Given the description of an element on the screen output the (x, y) to click on. 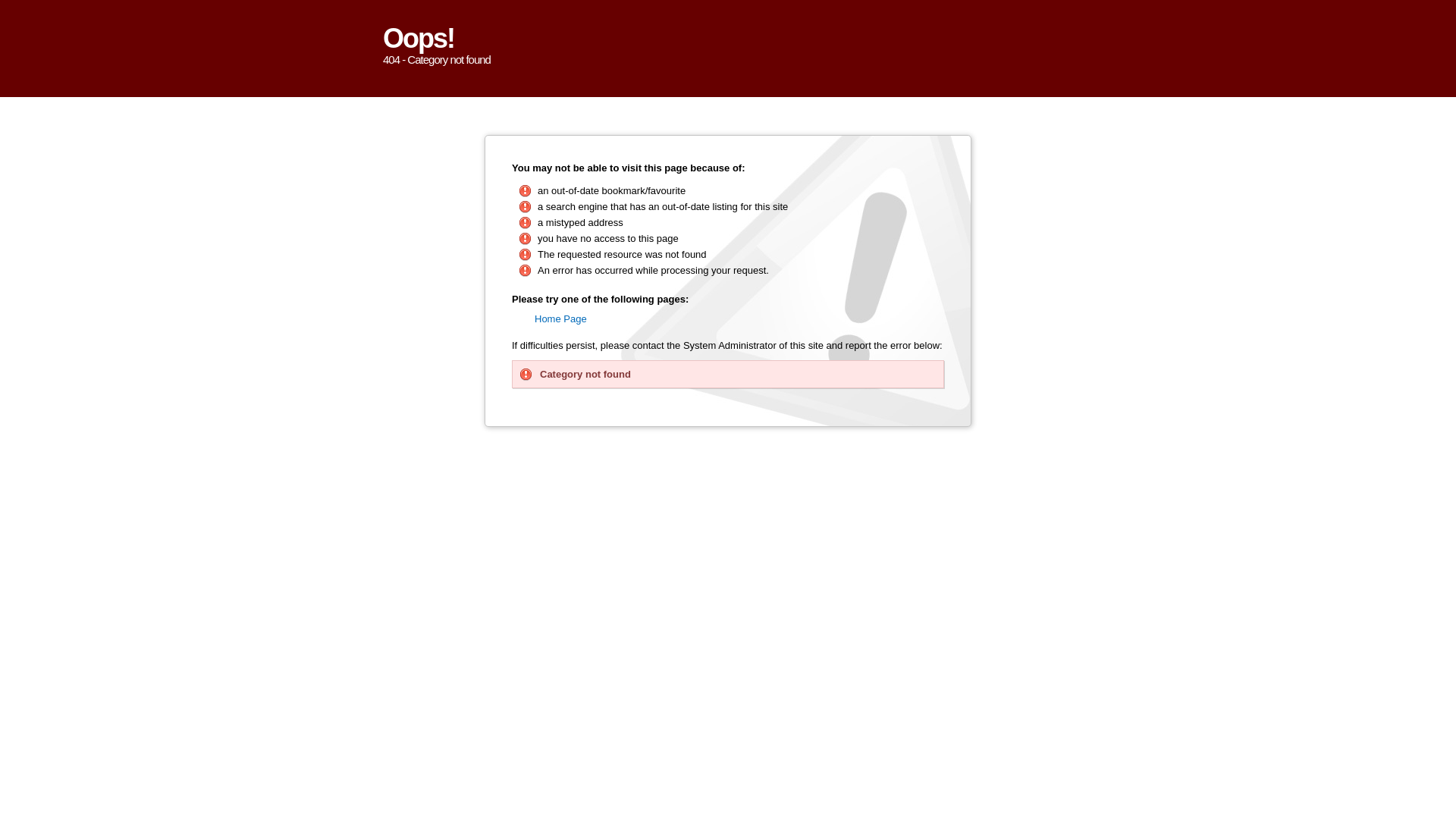
Home Page Element type: text (560, 318)
